Given the description of an element on the screen output the (x, y) to click on. 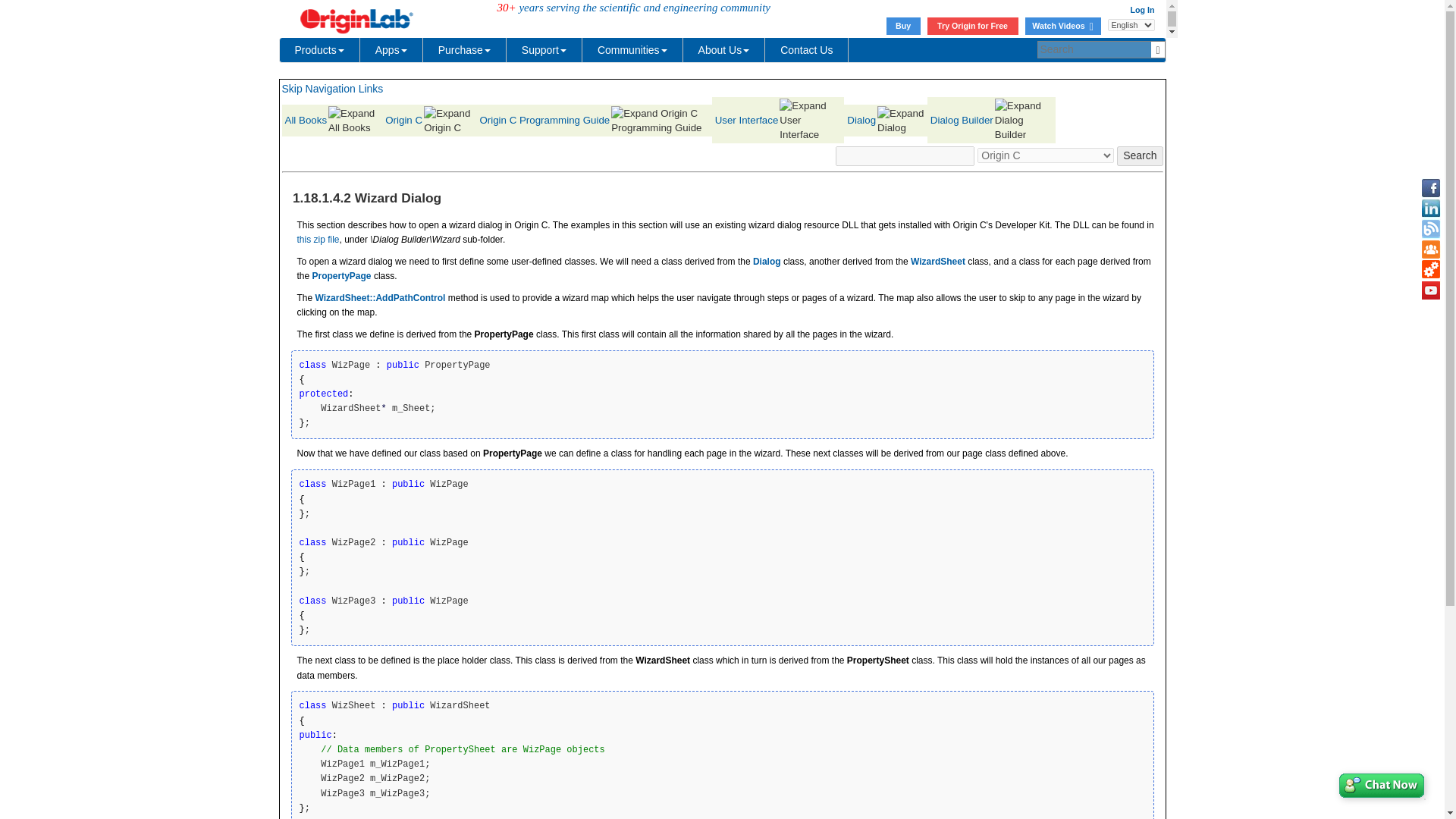
Origin C Programming Guide (593, 120)
Buy Now (903, 26)
Dialog Builder (991, 120)
Blog (1431, 229)
Origin C (428, 120)
Dialog (885, 120)
Forum (1431, 249)
File Exchange (1431, 270)
Facebook (1431, 188)
Search (1138, 156)
Log In (1142, 9)
Watch Videos  (1062, 26)
LinkedIn (1431, 208)
All Books (332, 120)
Products (319, 49)
